Given the description of an element on the screen output the (x, y) to click on. 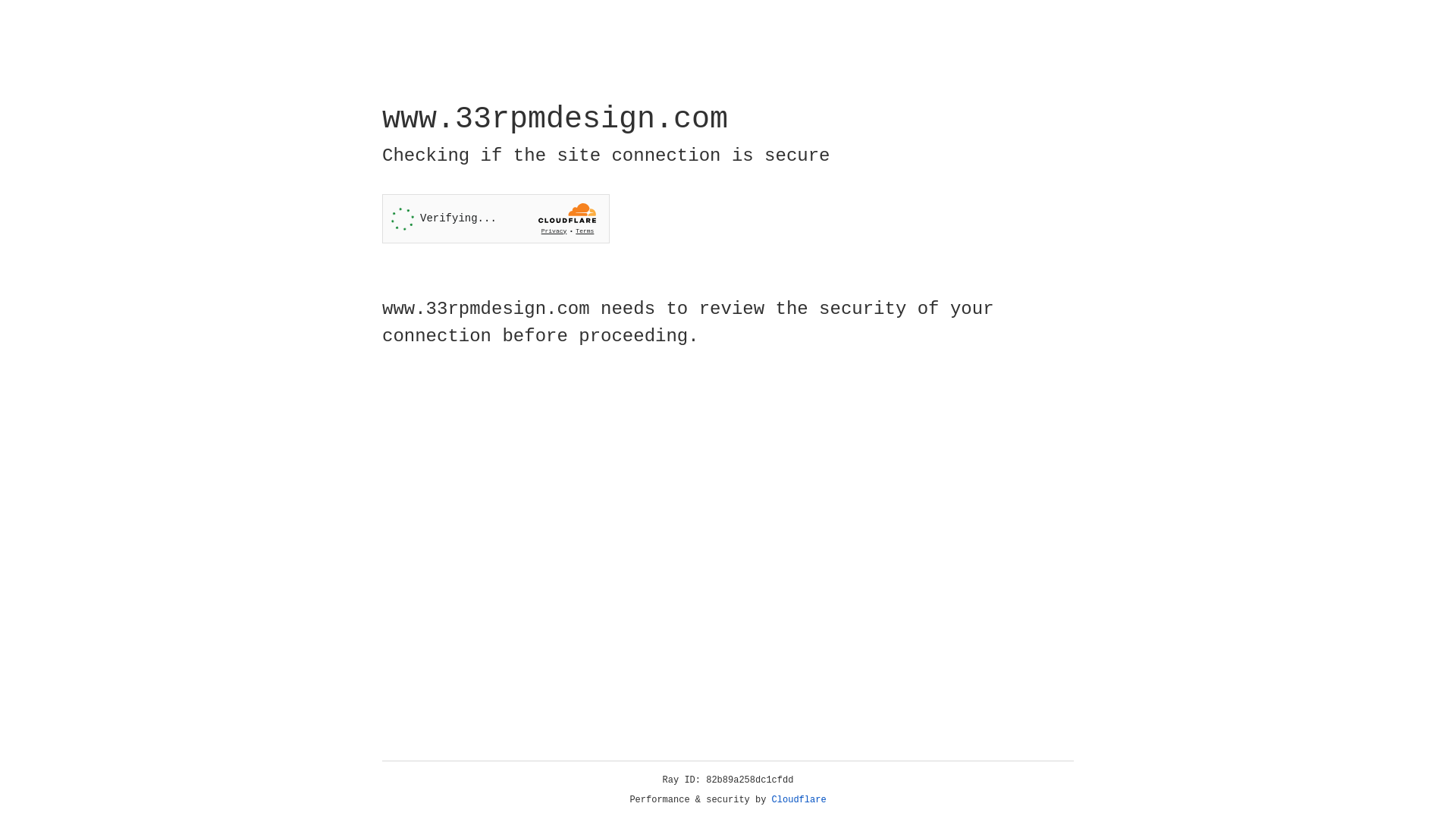
Widget containing a Cloudflare security challenge Element type: hover (495, 218)
Cloudflare Element type: text (798, 799)
